Given the description of an element on the screen output the (x, y) to click on. 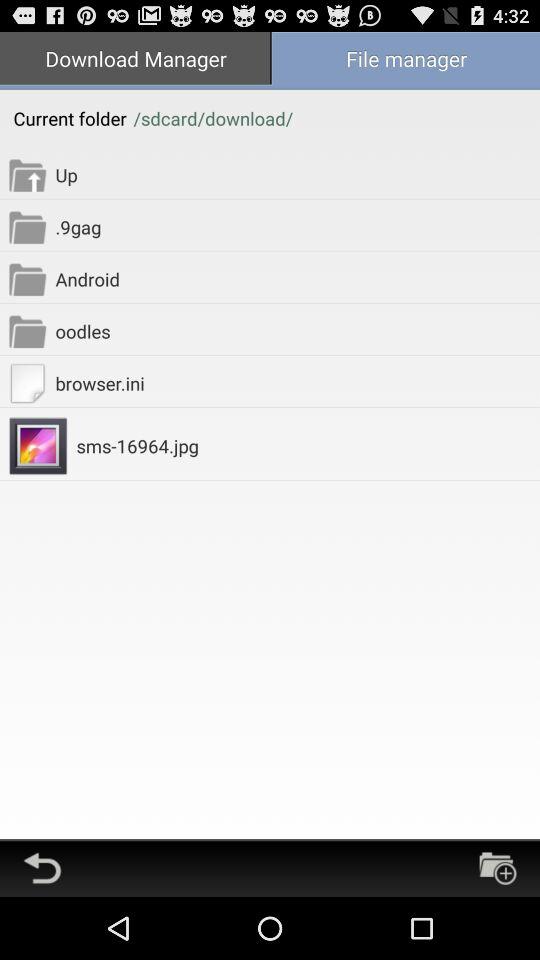
click the icon to the right of download manager icon (405, 60)
